Given the description of an element on the screen output the (x, y) to click on. 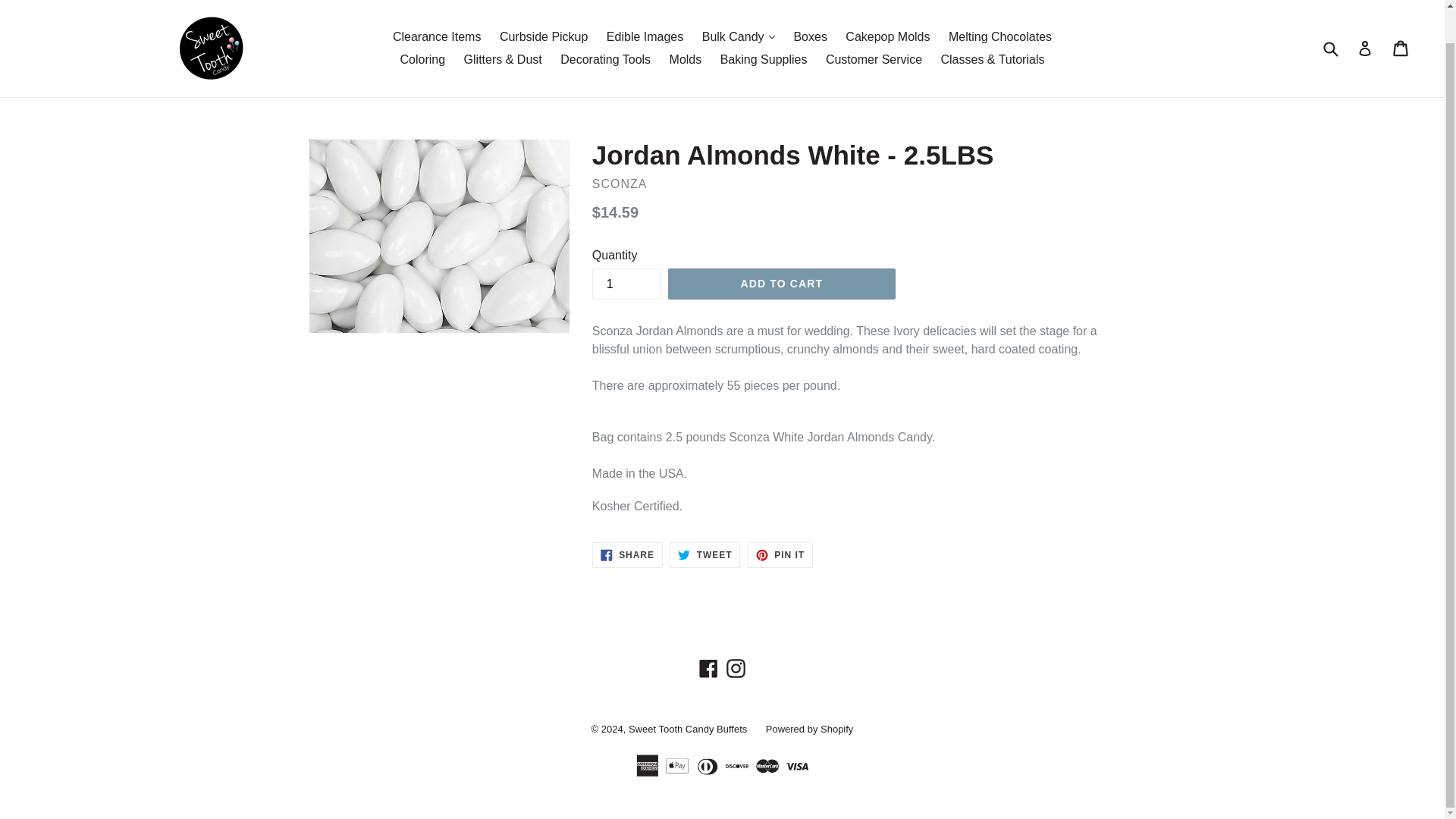
1 (626, 283)
Clearance Items (437, 36)
Pin on Pinterest (780, 555)
Tweet on Twitter (704, 555)
Sweet Tooth Candy Buffets on Instagram (735, 668)
Sweet Tooth Candy Buffets on Facebook (708, 668)
Edible Images (644, 36)
Share on Facebook (627, 555)
Curbside Pickup (543, 36)
